Given the description of an element on the screen output the (x, y) to click on. 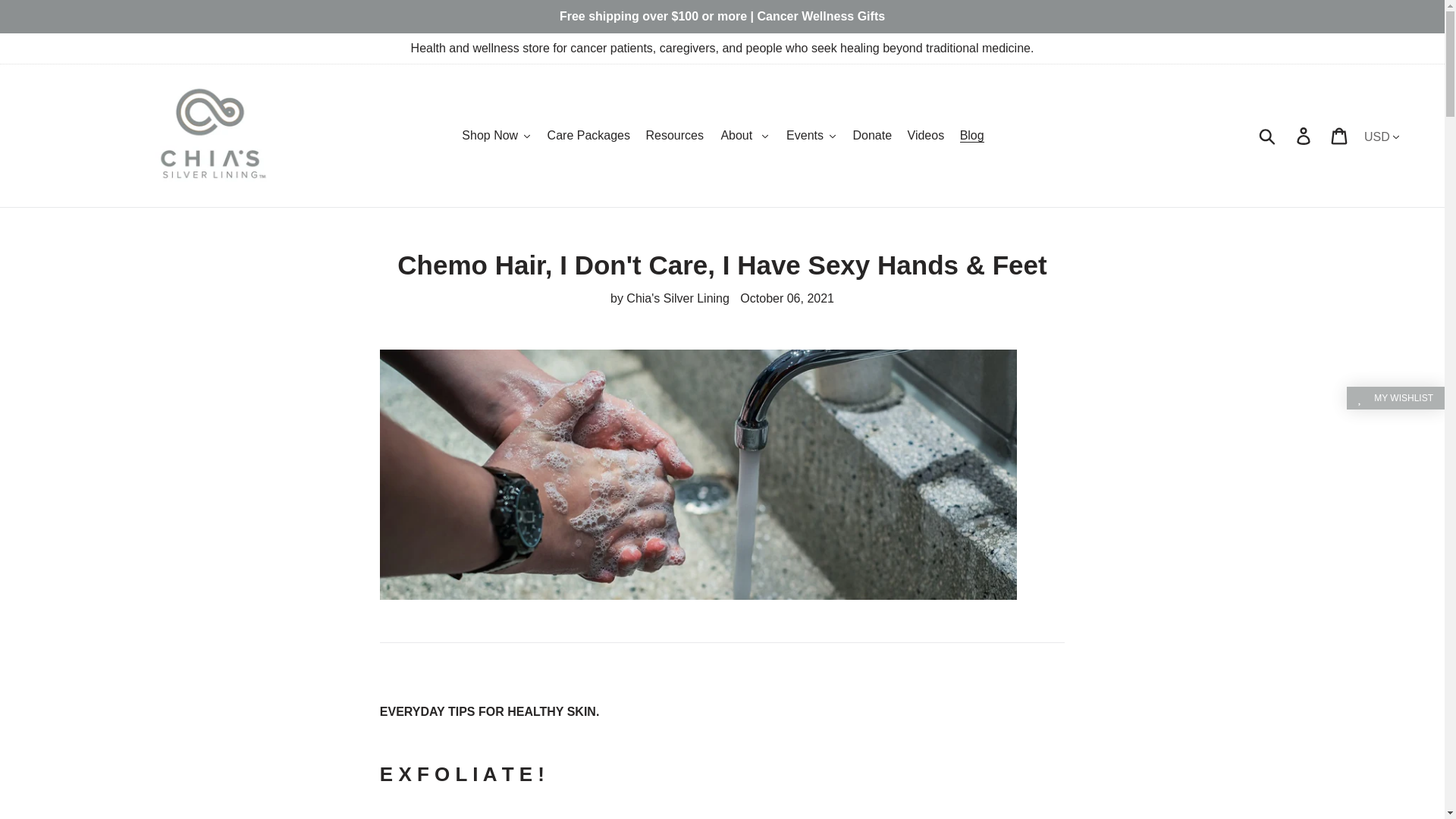
Submit (1268, 135)
Resources (674, 135)
Care Packages (588, 135)
Donate (871, 135)
Log in (1304, 135)
Cart (1340, 135)
Blog (971, 135)
Videos (925, 135)
